Given the description of an element on the screen output the (x, y) to click on. 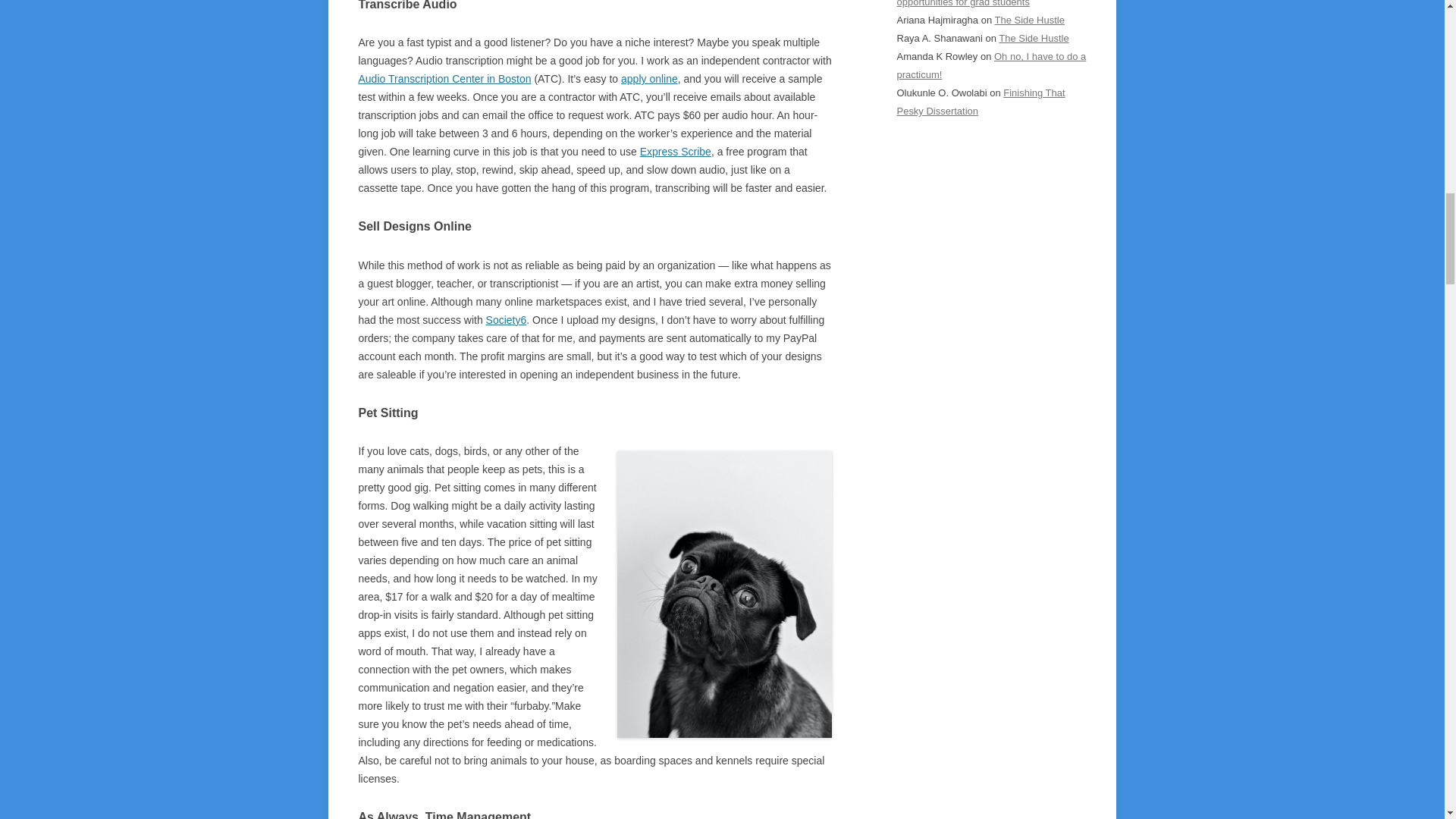
apply online (649, 78)
Society6 (506, 319)
Audio Transcription Center in Boston (444, 78)
Express Scribe (675, 151)
